Given the description of an element on the screen output the (x, y) to click on. 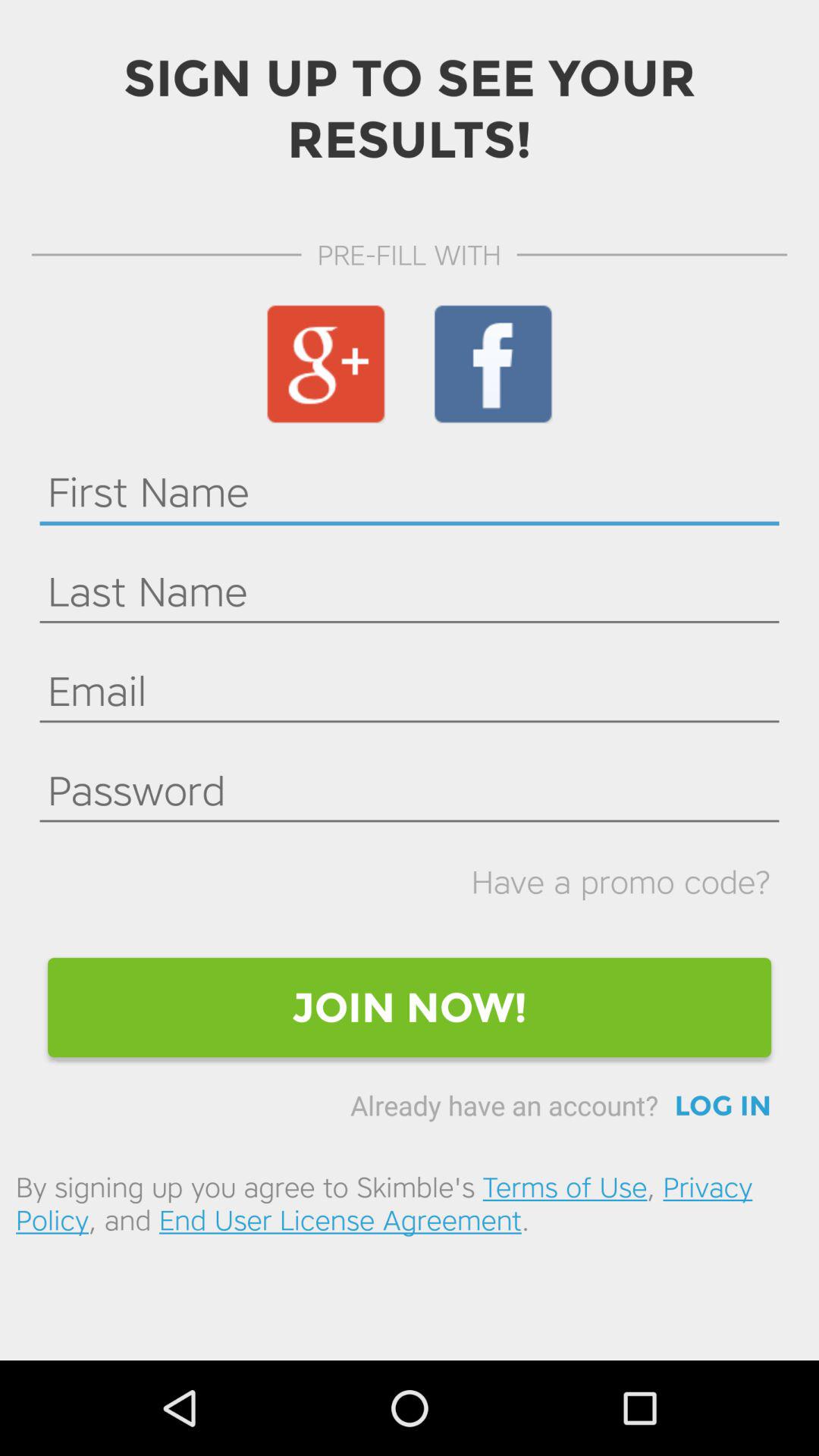
open icon at the bottom right corner (722, 1105)
